Given the description of an element on the screen output the (x, y) to click on. 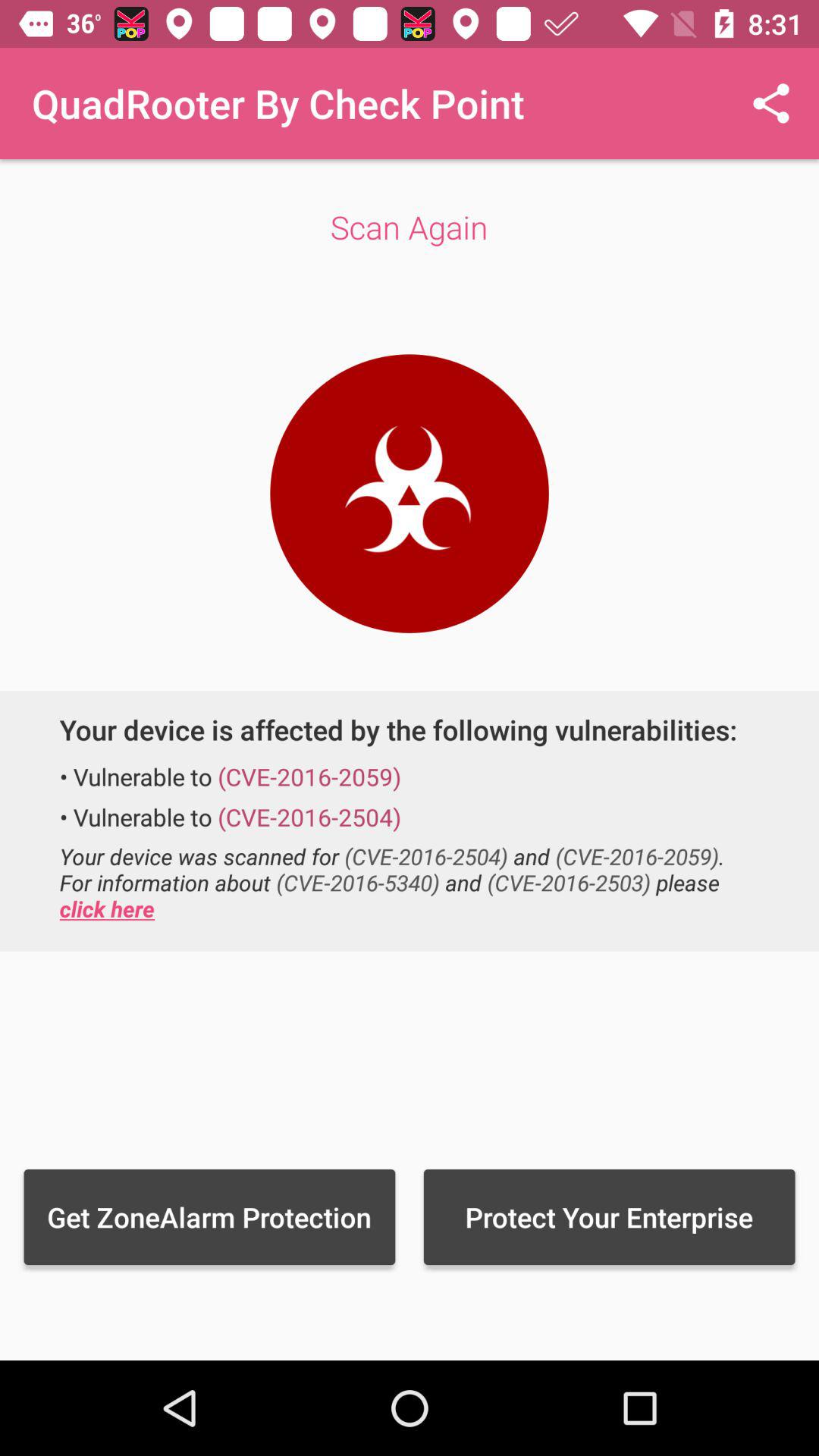
choose icon at the bottom right corner (609, 1216)
